Given the description of an element on the screen output the (x, y) to click on. 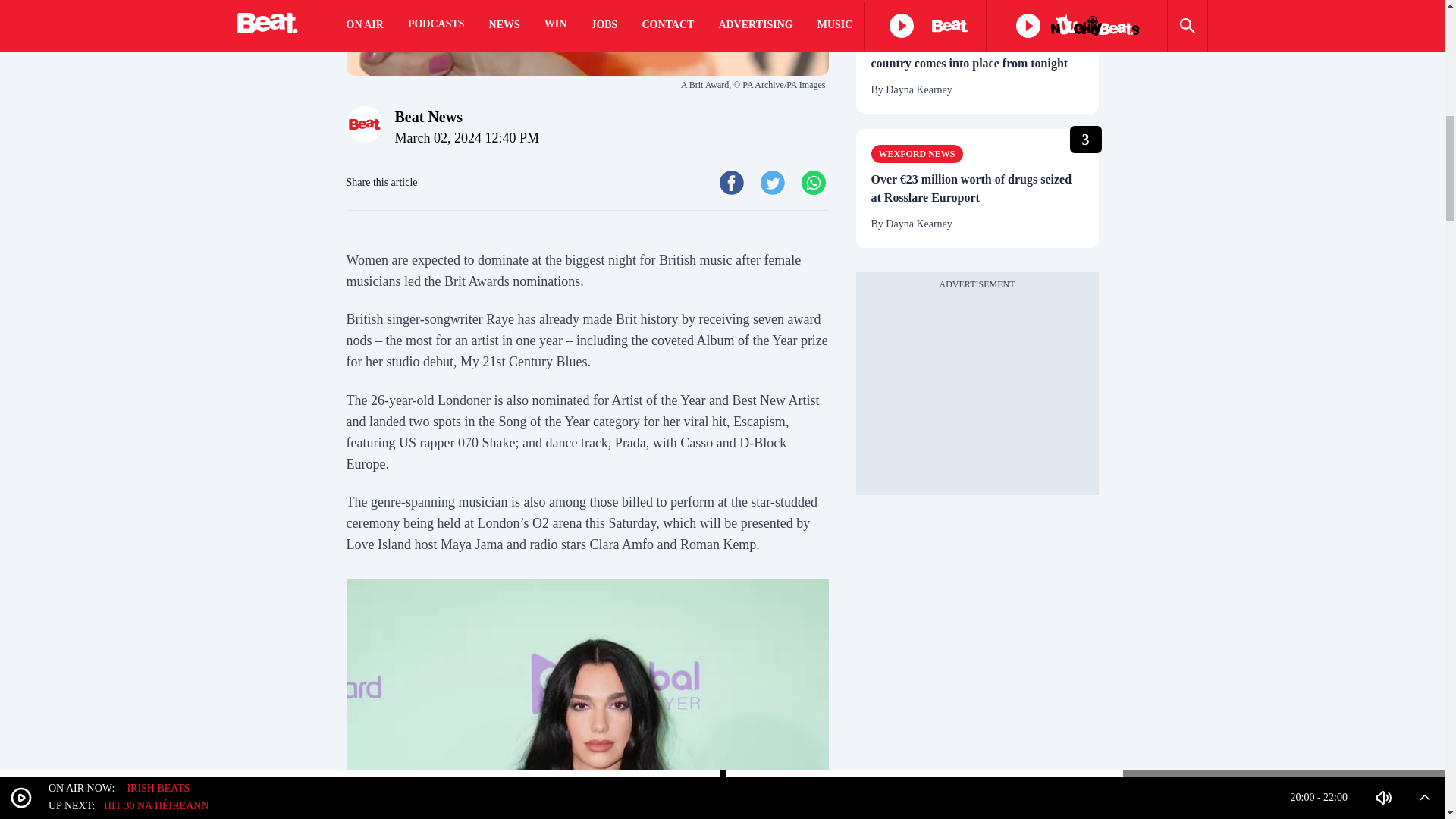
Wexford News (916, 153)
News (891, 19)
